Given the description of an element on the screen output the (x, y) to click on. 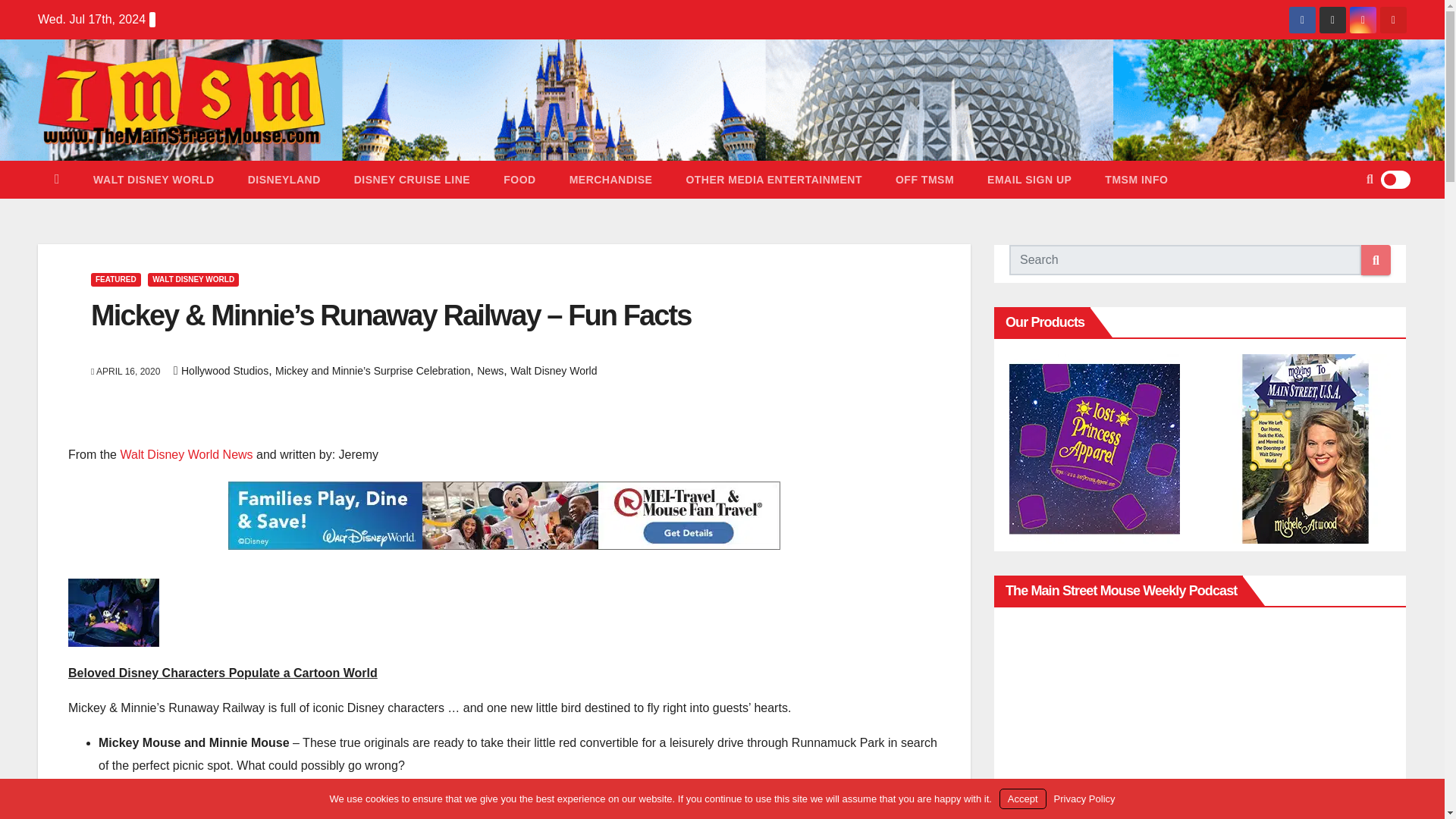
Disneyland (284, 179)
Off TMSM (925, 179)
News (490, 370)
Hollywood Studios (223, 370)
Food (518, 179)
DISNEY CRUISE LINE (411, 179)
MERCHANDISE (611, 179)
FEATURED (115, 279)
DISNEYLAND (284, 179)
TMSM Info (1136, 179)
Walt Disney World (154, 179)
Disney Cruise Line (411, 179)
Email Sign Up (1029, 179)
OTHER MEDIA ENTERTAINMENT (773, 179)
EMAIL SIGN UP (1029, 179)
